Given the description of an element on the screen output the (x, y) to click on. 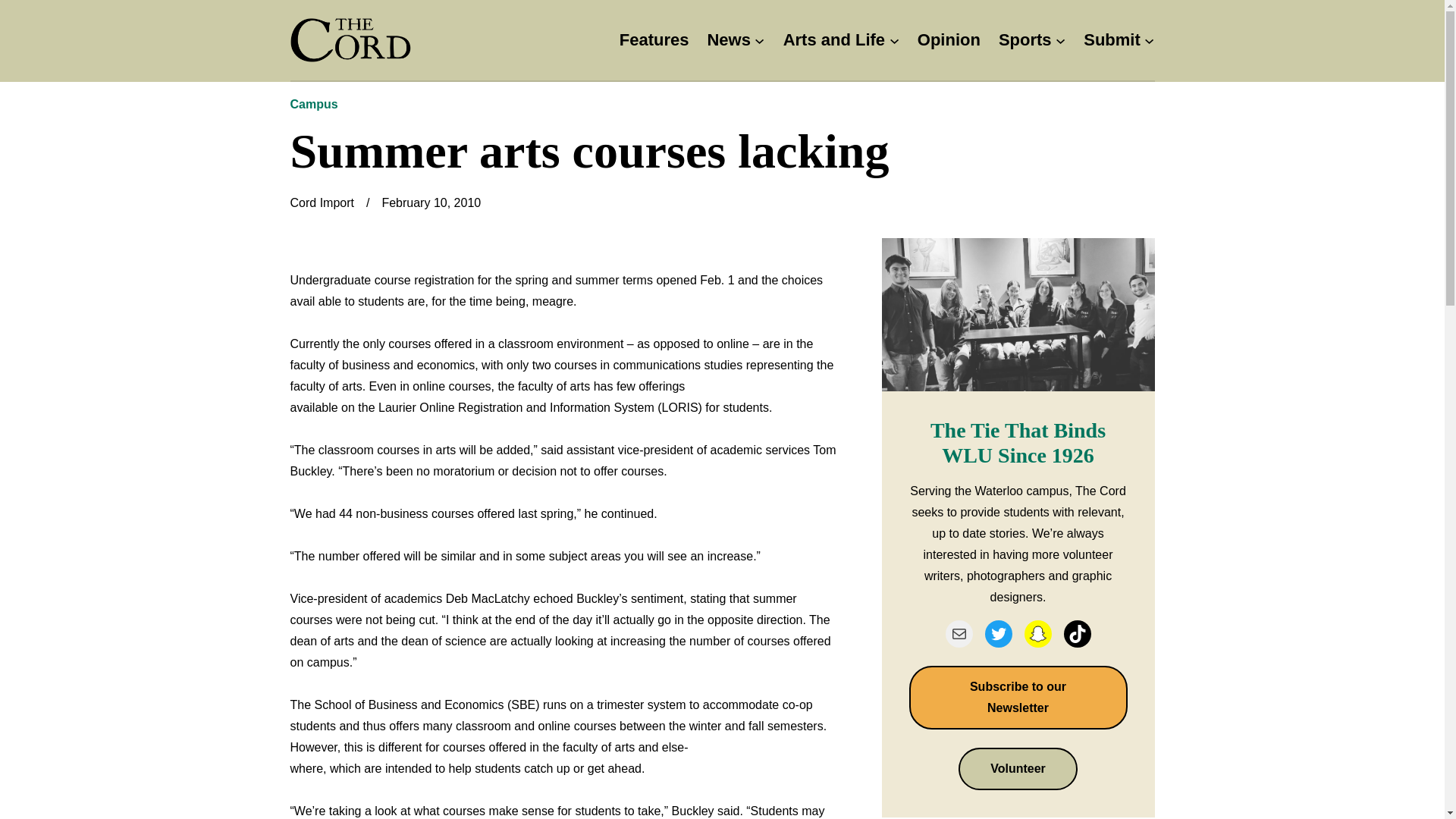
Features (654, 40)
Twitter (997, 633)
TikTok (1076, 633)
News (727, 40)
Snapchat (1037, 633)
Submit (1111, 40)
Arts and Life (834, 40)
Sports (1024, 40)
Opinion (948, 40)
Subscribe to our Newsletter (1017, 697)
Campus (313, 103)
Mail (958, 633)
Volunteer (1017, 768)
